Given the description of an element on the screen output the (x, y) to click on. 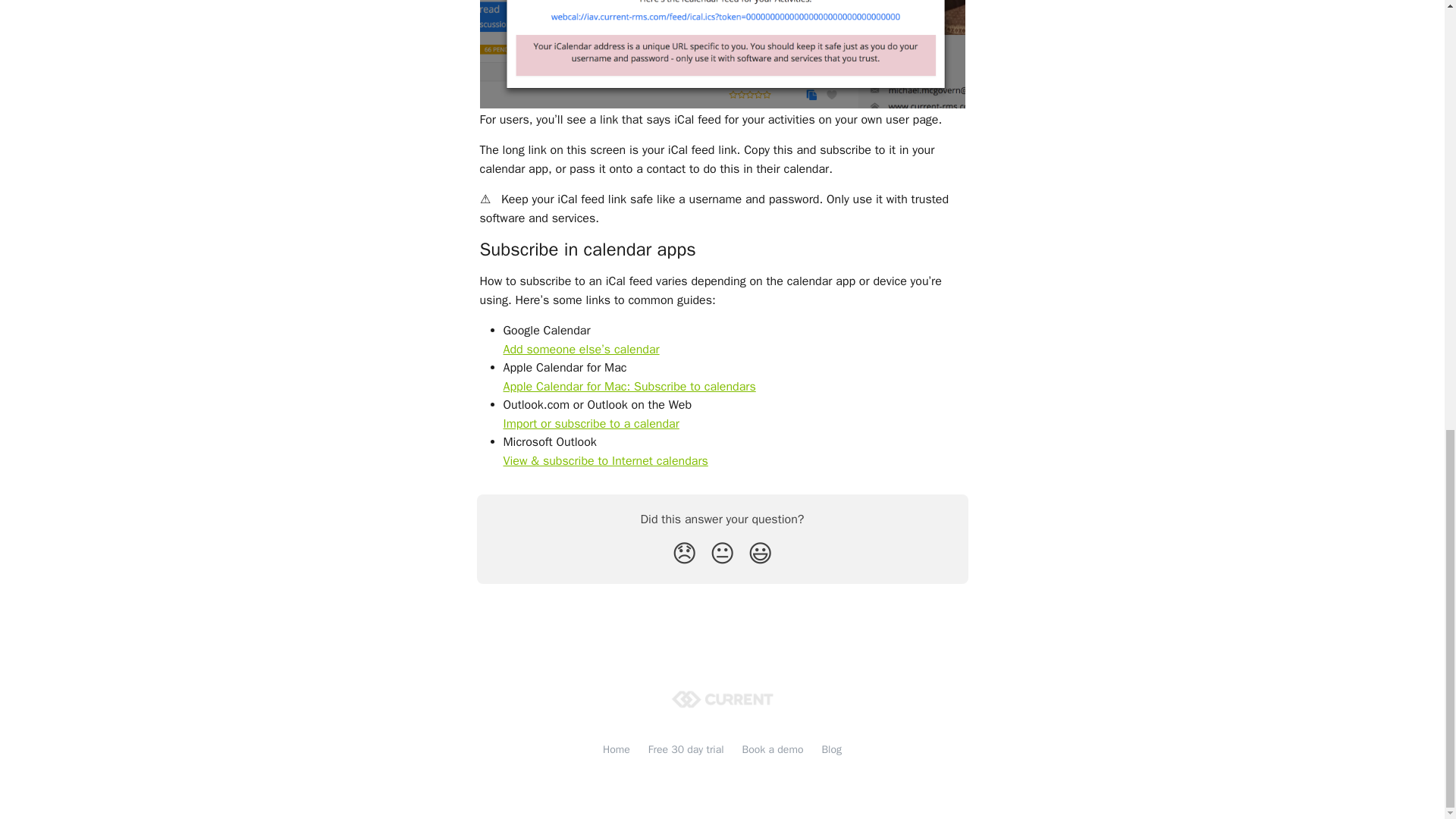
Book a demo (772, 748)
Free 30 day trial (685, 748)
Blog (831, 748)
Apple Calendar for Mac: Subscribe to calendars (629, 386)
Import or subscribe to a calendar (591, 423)
Home (616, 748)
